Given the description of an element on the screen output the (x, y) to click on. 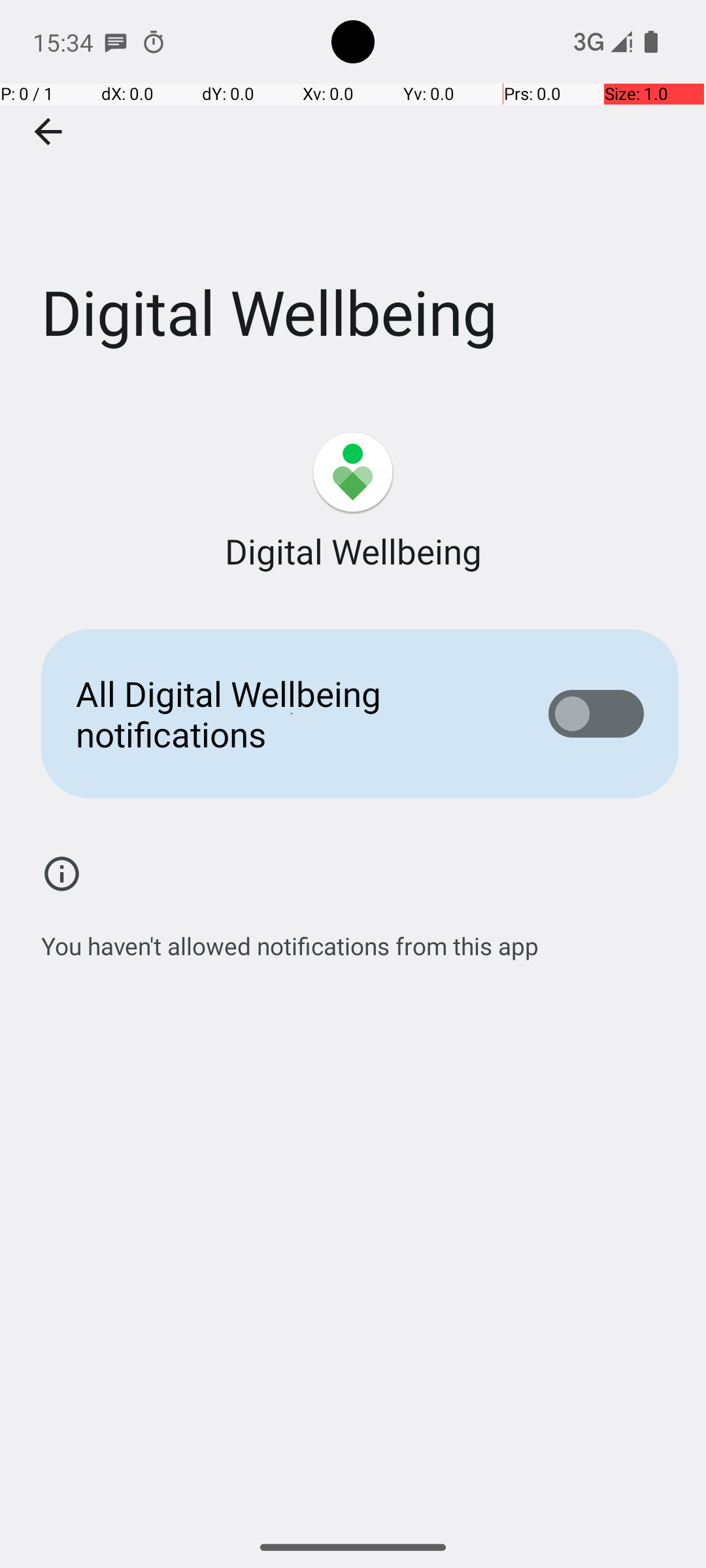
All Digital Wellbeing notifications Element type: android.widget.TextView (291, 713)
